Given the description of an element on the screen output the (x, y) to click on. 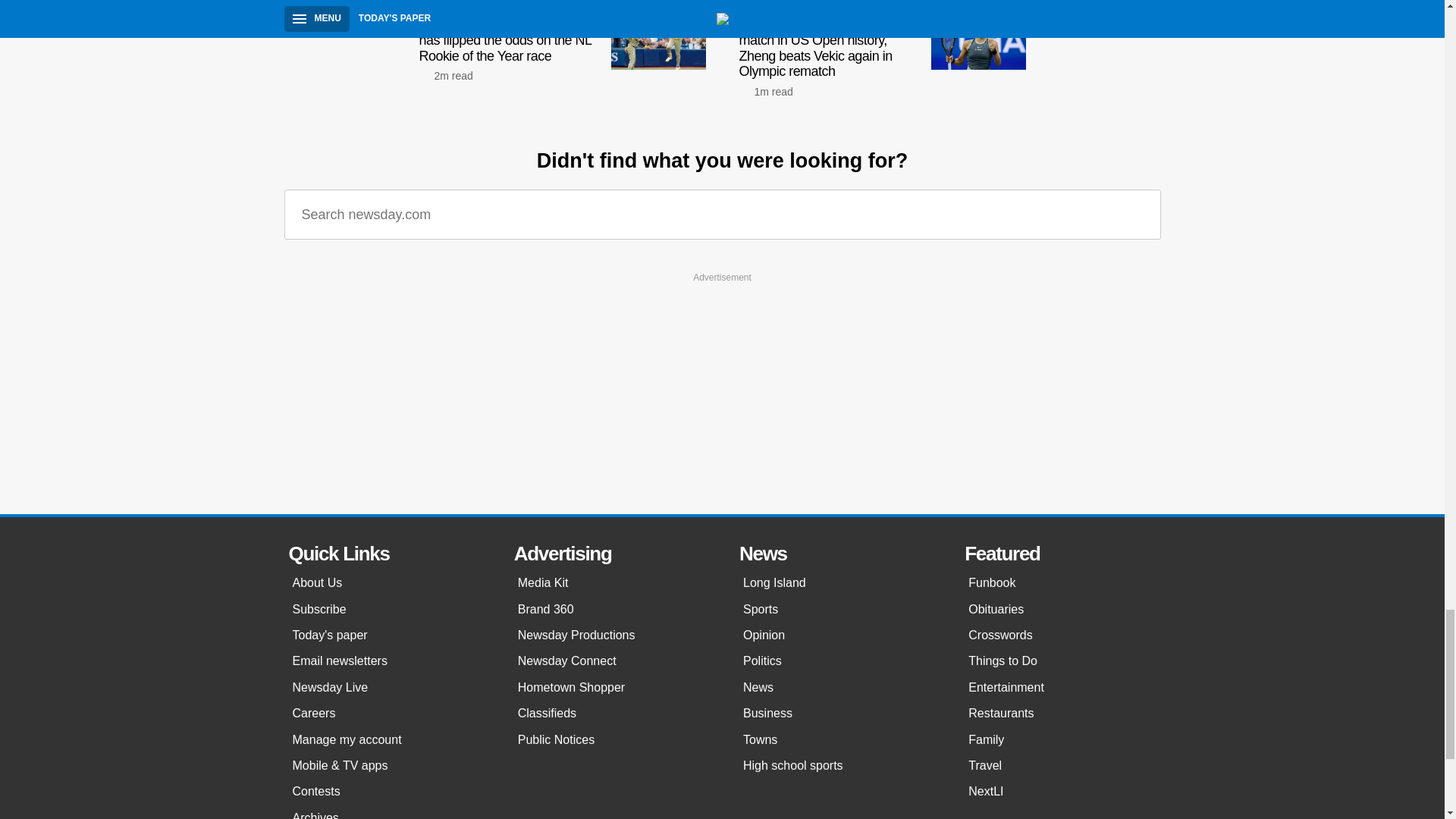
Subscribe (387, 609)
Newsday Live (387, 687)
Today's paper (387, 635)
Search (1137, 214)
About Us (387, 583)
Email newsletters (387, 661)
